Given the description of an element on the screen output the (x, y) to click on. 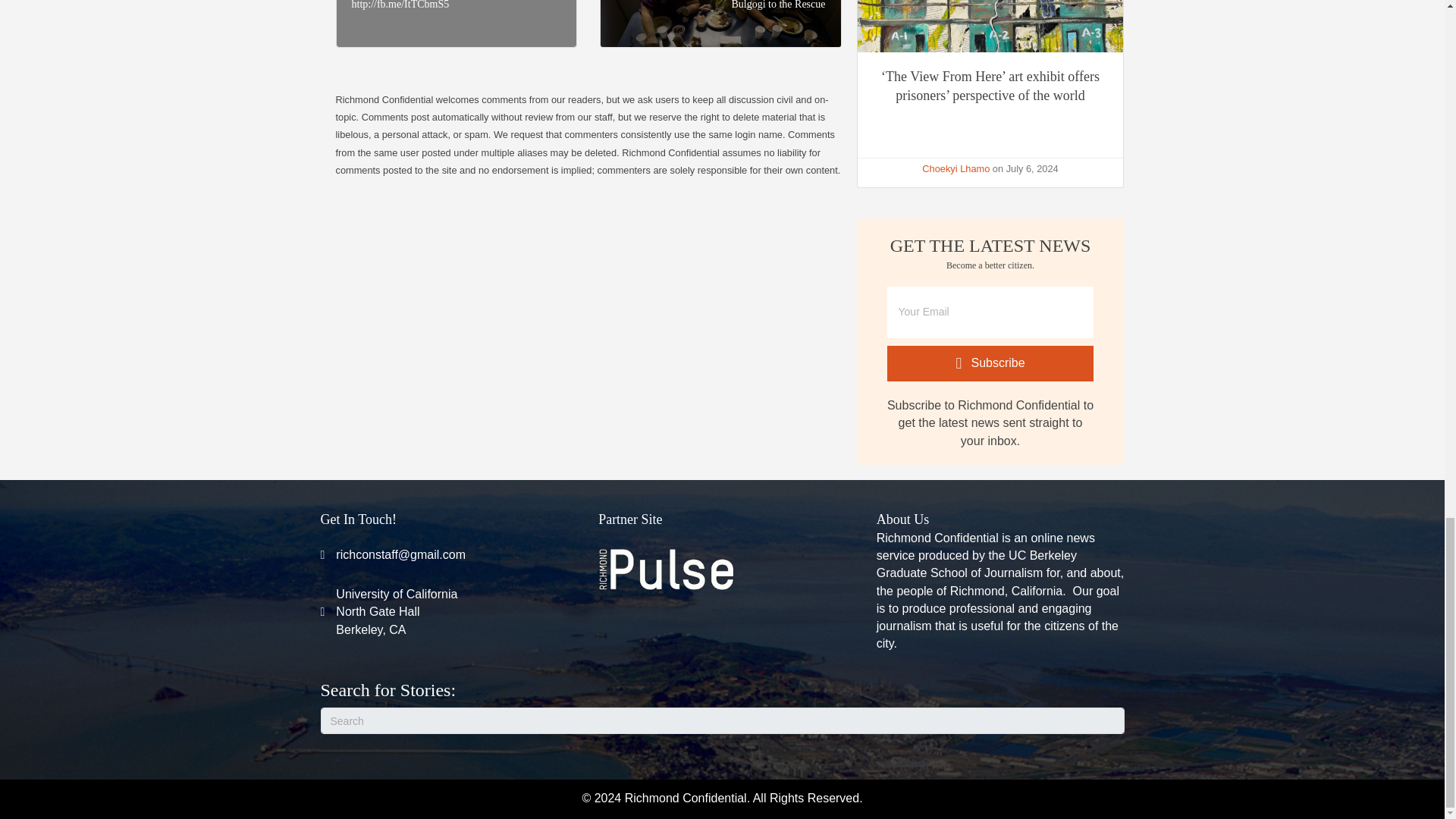
Subscribe (396, 611)
Type and press Enter to search. (990, 363)
Pulse (722, 720)
Click Here (666, 569)
Choekyi Lhamo (990, 363)
Bulgogi to the Rescue (955, 168)
